Given the description of an element on the screen output the (x, y) to click on. 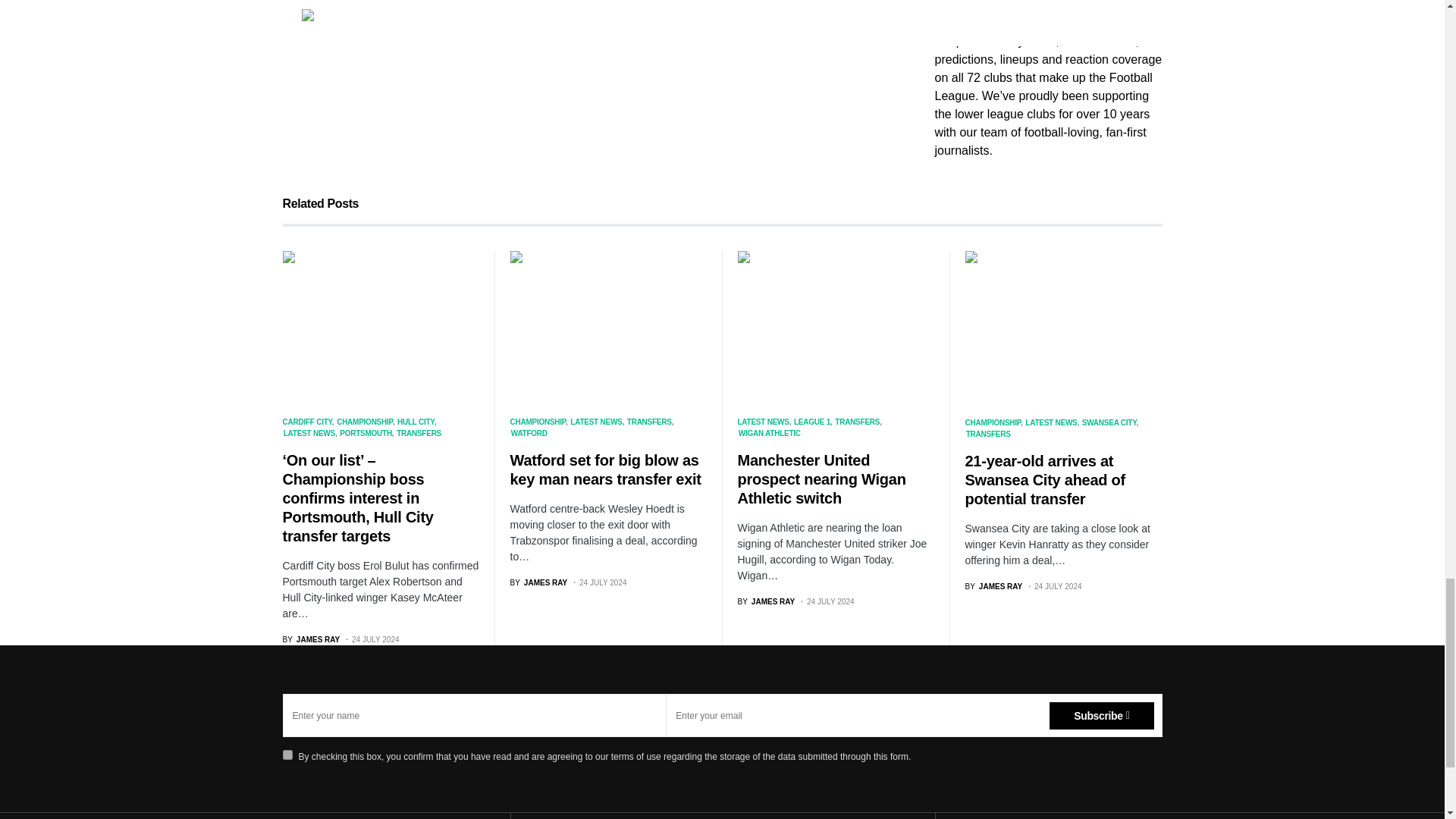
View all posts by James Ray (310, 639)
View all posts by James Ray (538, 582)
View all posts by James Ray (992, 586)
View all posts by James Ray (765, 601)
on (287, 755)
